Given the description of an element on the screen output the (x, y) to click on. 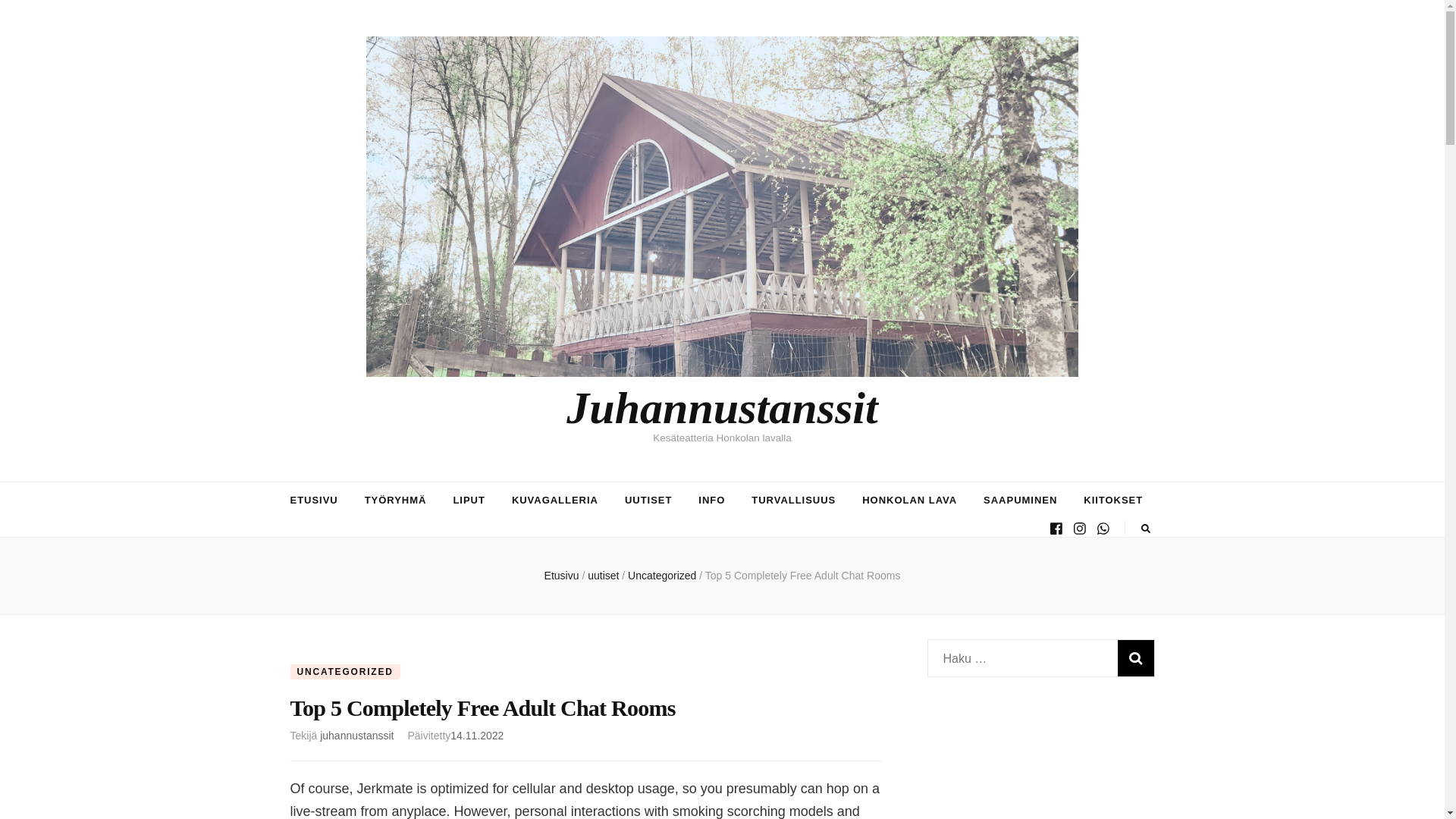
uutiset (604, 575)
KUVAGALLERIA (555, 499)
INFO (711, 499)
Uncategorized (662, 575)
TURVALLISUUS (793, 499)
Hae (1136, 657)
UNCATEGORIZED (343, 671)
SAAPUMINEN (1020, 499)
Top 5 Completely Free Adult Chat Rooms (802, 575)
Etusivu (561, 575)
14.11.2022 (476, 735)
LIPUT (468, 499)
ETUSIVU (313, 499)
Juhannustanssit (721, 408)
KIITOKSET (1112, 499)
